Given the description of an element on the screen output the (x, y) to click on. 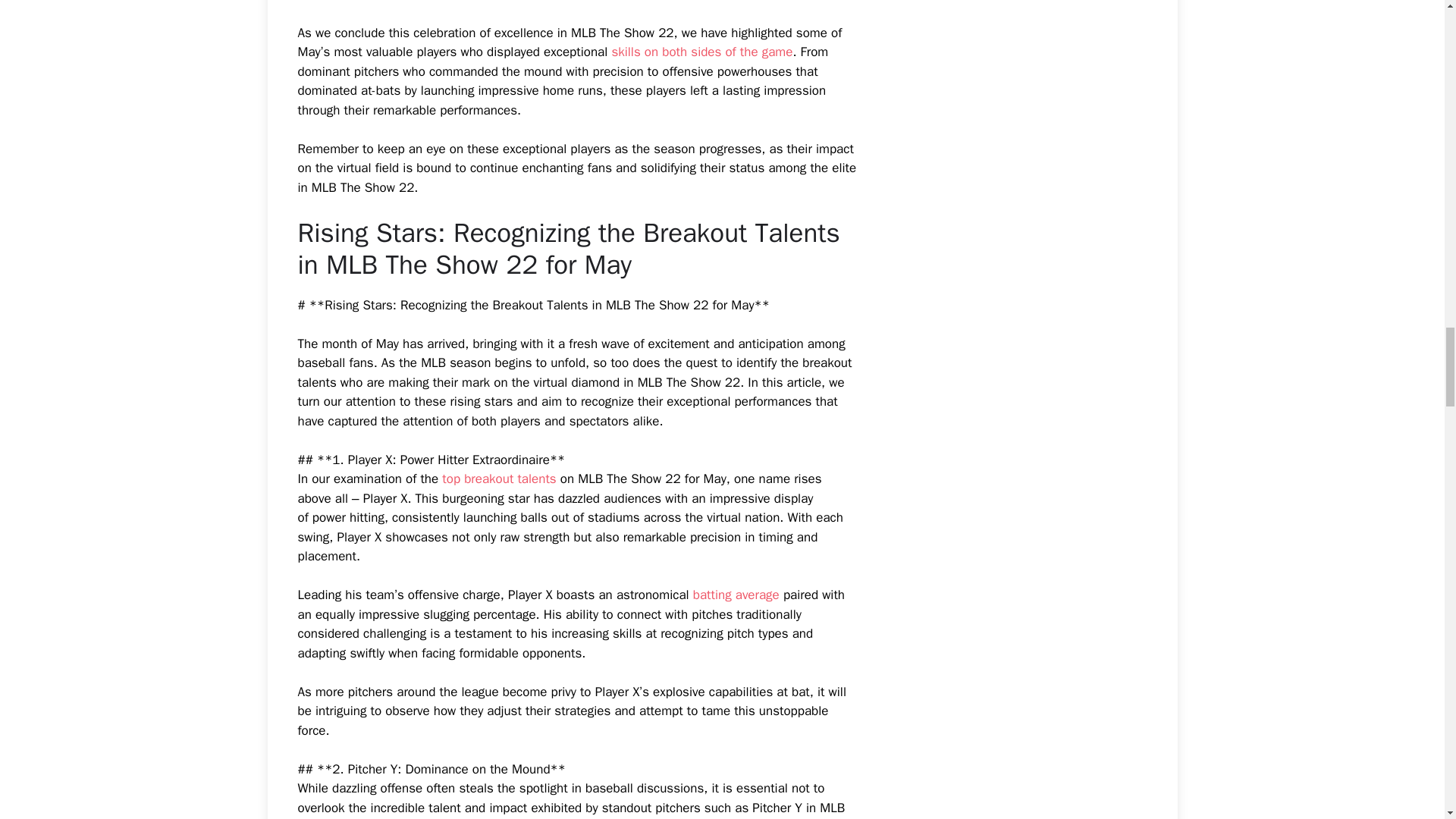
skills on both sides of the game (701, 51)
top breakout talents (499, 478)
batting average (735, 594)
